Given the description of an element on the screen output the (x, y) to click on. 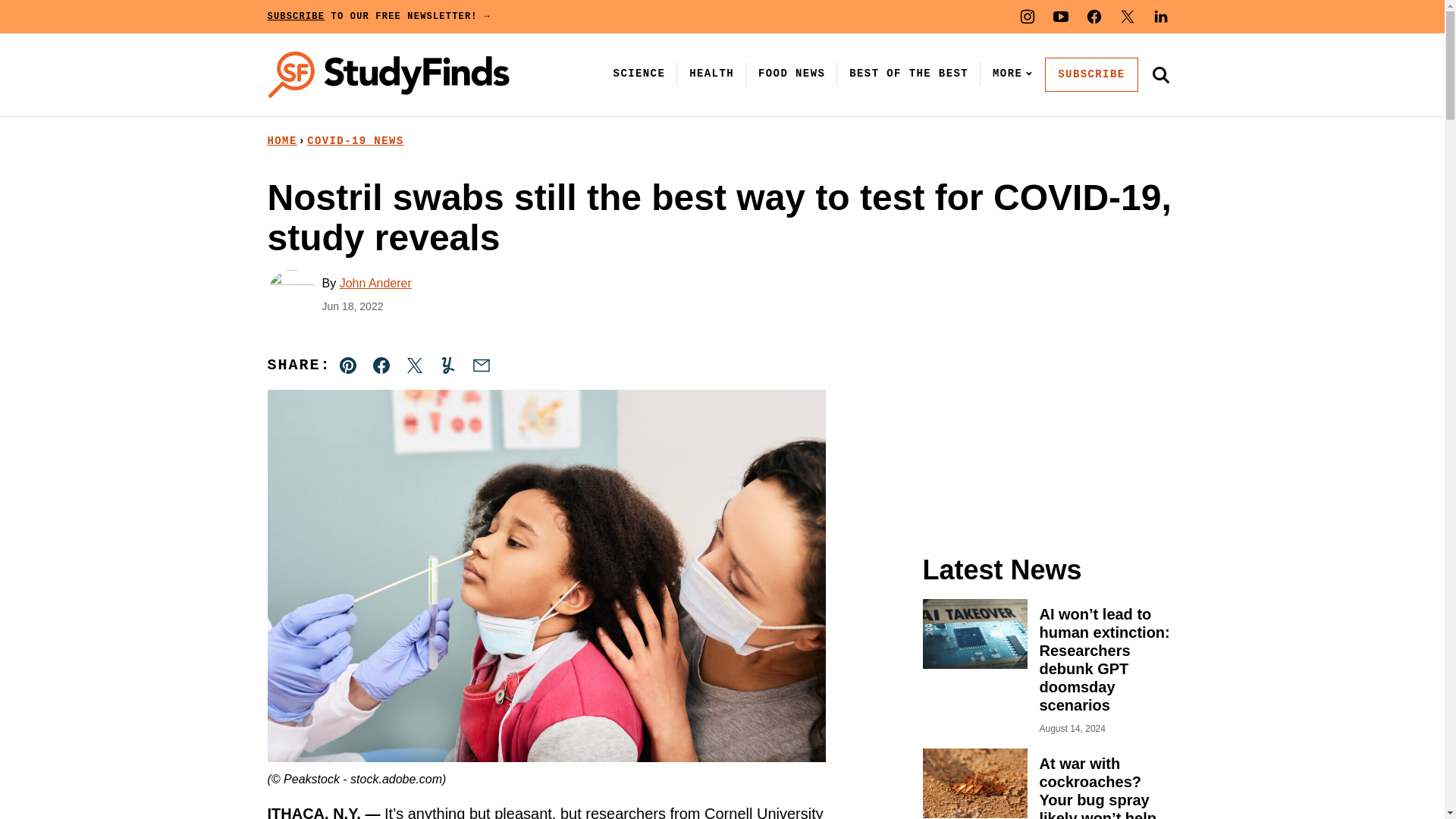
Share via Email (480, 365)
Share on Yummly (447, 365)
Share on Facebook (381, 365)
HOME (281, 141)
Share on Pinterest (348, 365)
HEALTH (711, 73)
SUBSCRIBE (1091, 74)
BEST OF THE BEST (908, 73)
Share on Twitter (413, 365)
SCIENCE (639, 73)
